Given the description of an element on the screen output the (x, y) to click on. 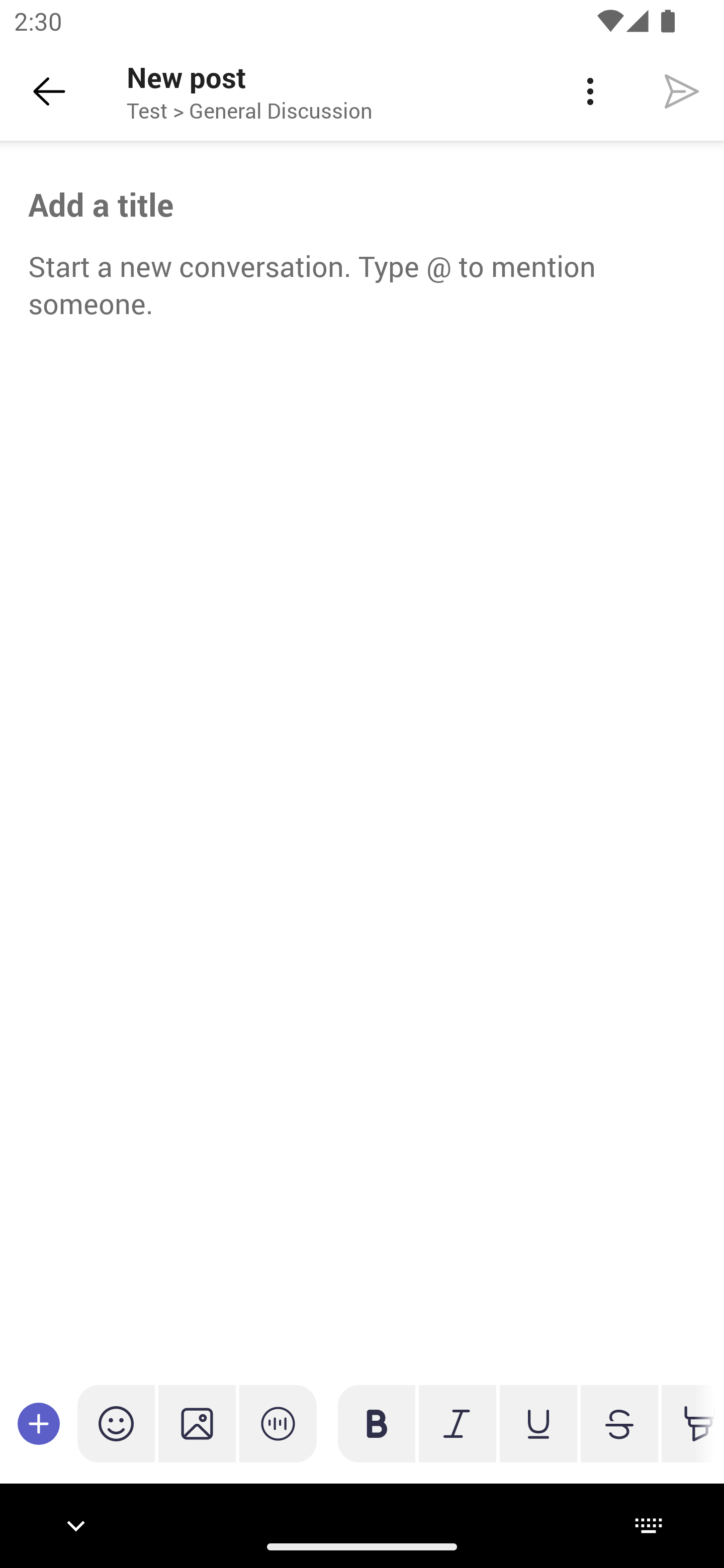
Back (49, 91)
Email options (589, 91)
Send message (681, 90)
Add a title (362, 204)
Compose options, collapsed (38, 1423)
GIFs and emojis picker (115, 1423)
Media (197, 1423)
Record audio message (278, 1423)
Bold (376, 1423)
Italic (456, 1423)
Underline (538, 1423)
Strikethrough (619, 1423)
Select text highlight color (688, 1423)
